Given the description of an element on the screen output the (x, y) to click on. 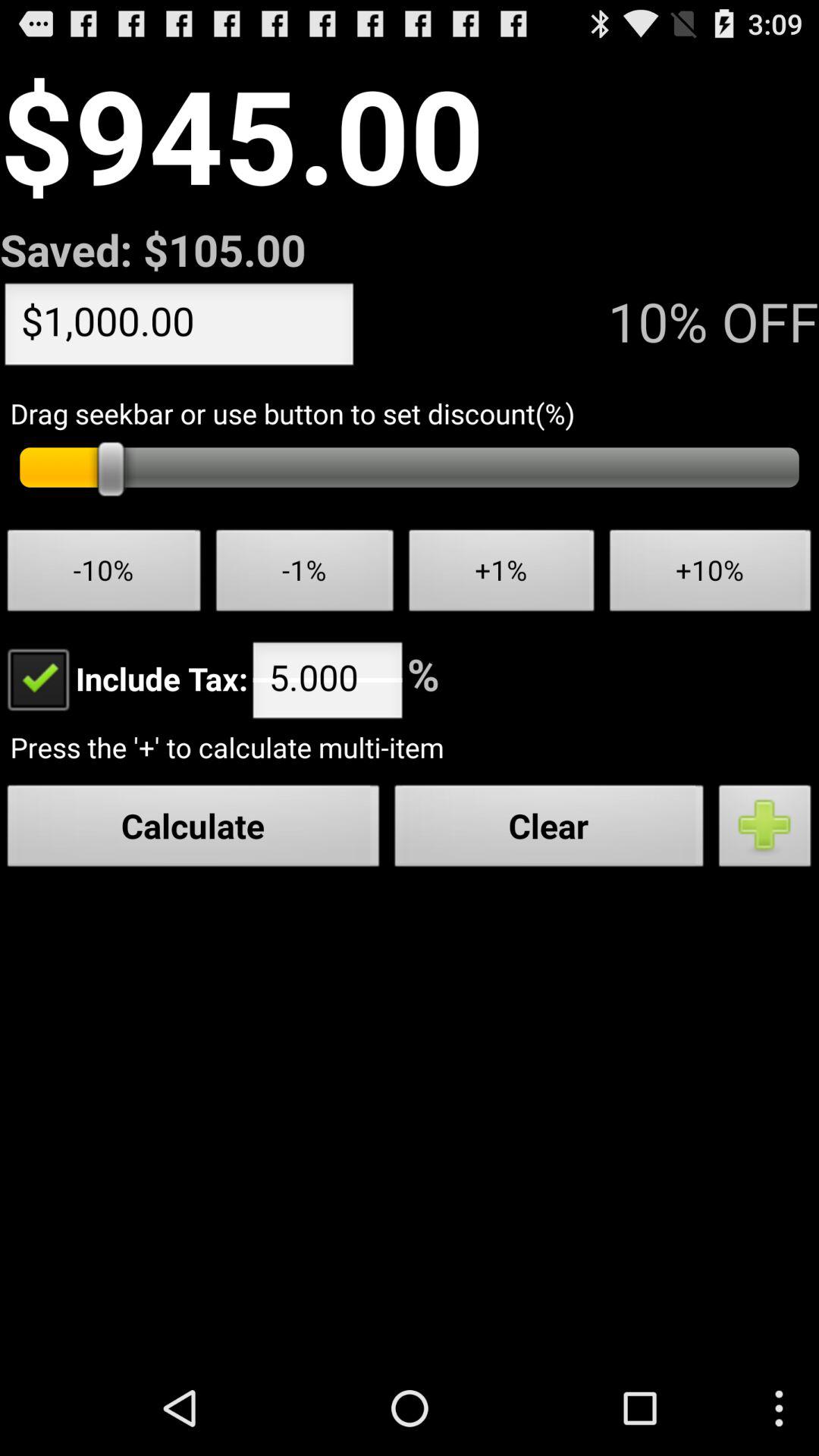
select the icon to the left of the   10% off app (179, 327)
